Given the description of an element on the screen output the (x, y) to click on. 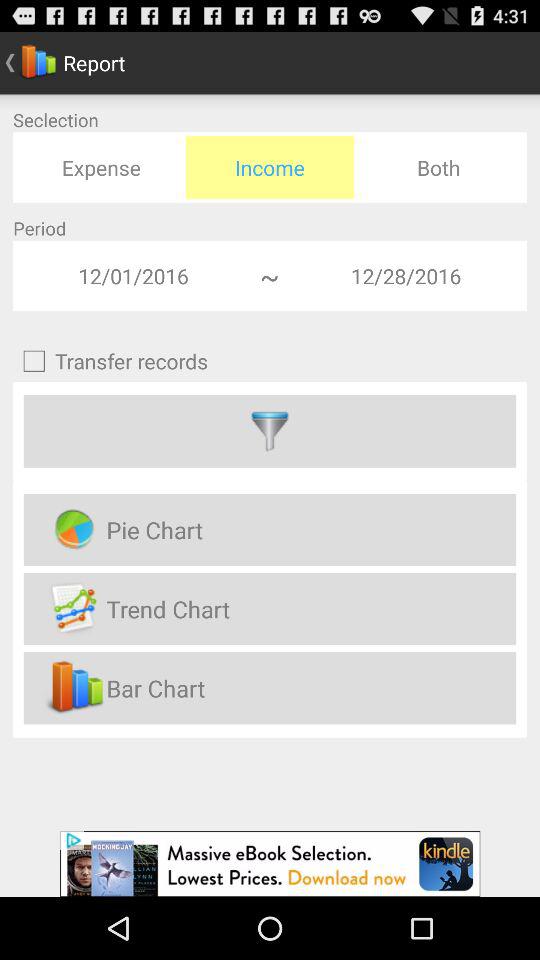
click the transfer record option (269, 431)
